Given the description of an element on the screen output the (x, y) to click on. 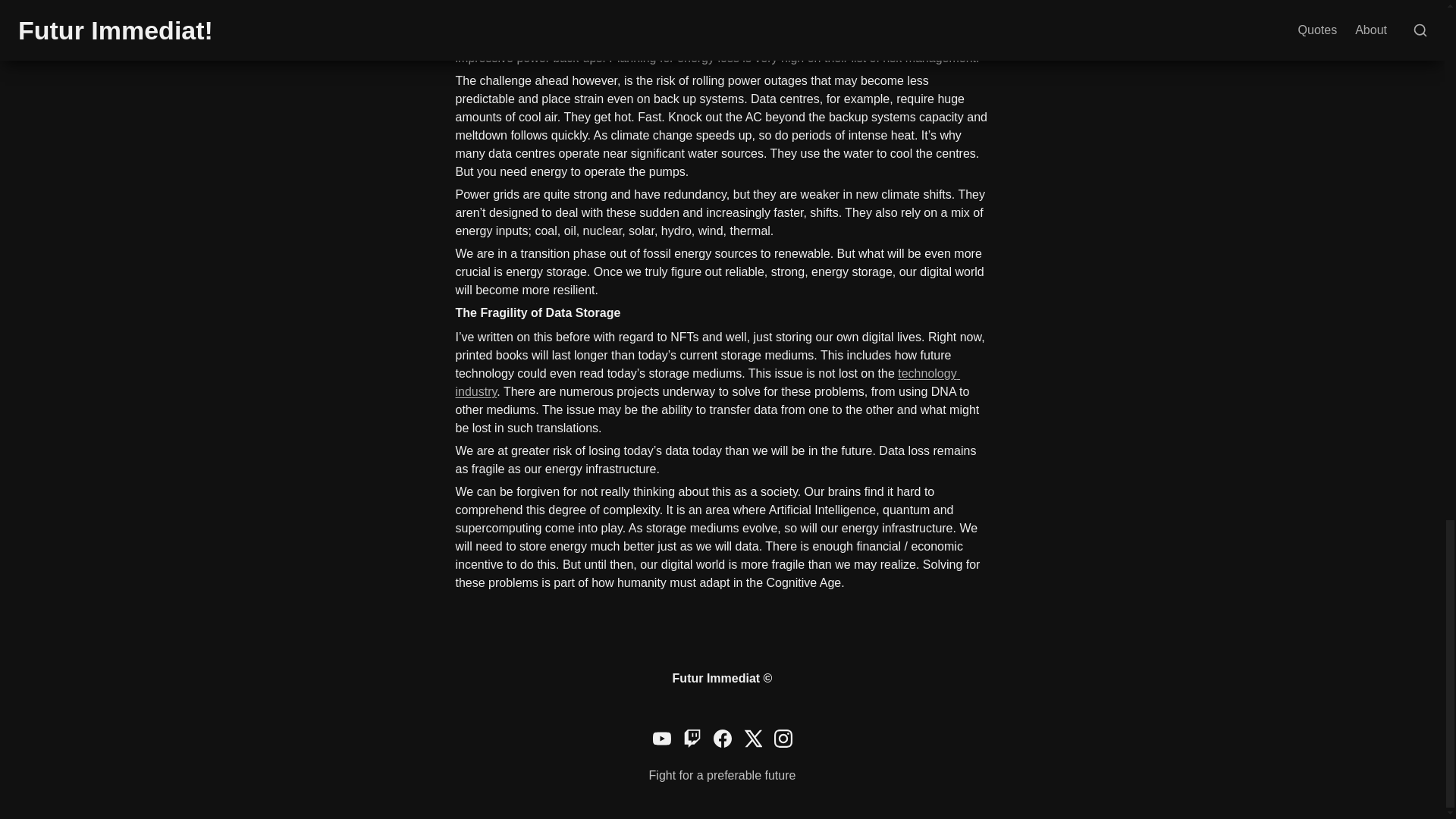
Facebook (721, 738)
YouTube (660, 738)
X (751, 738)
Twitch (691, 738)
technology industry (706, 382)
Instagram (782, 738)
Instagram (782, 738)
Facebook (721, 738)
YouTube (660, 738)
X (751, 738)
Twitch (691, 738)
